Given the description of an element on the screen output the (x, y) to click on. 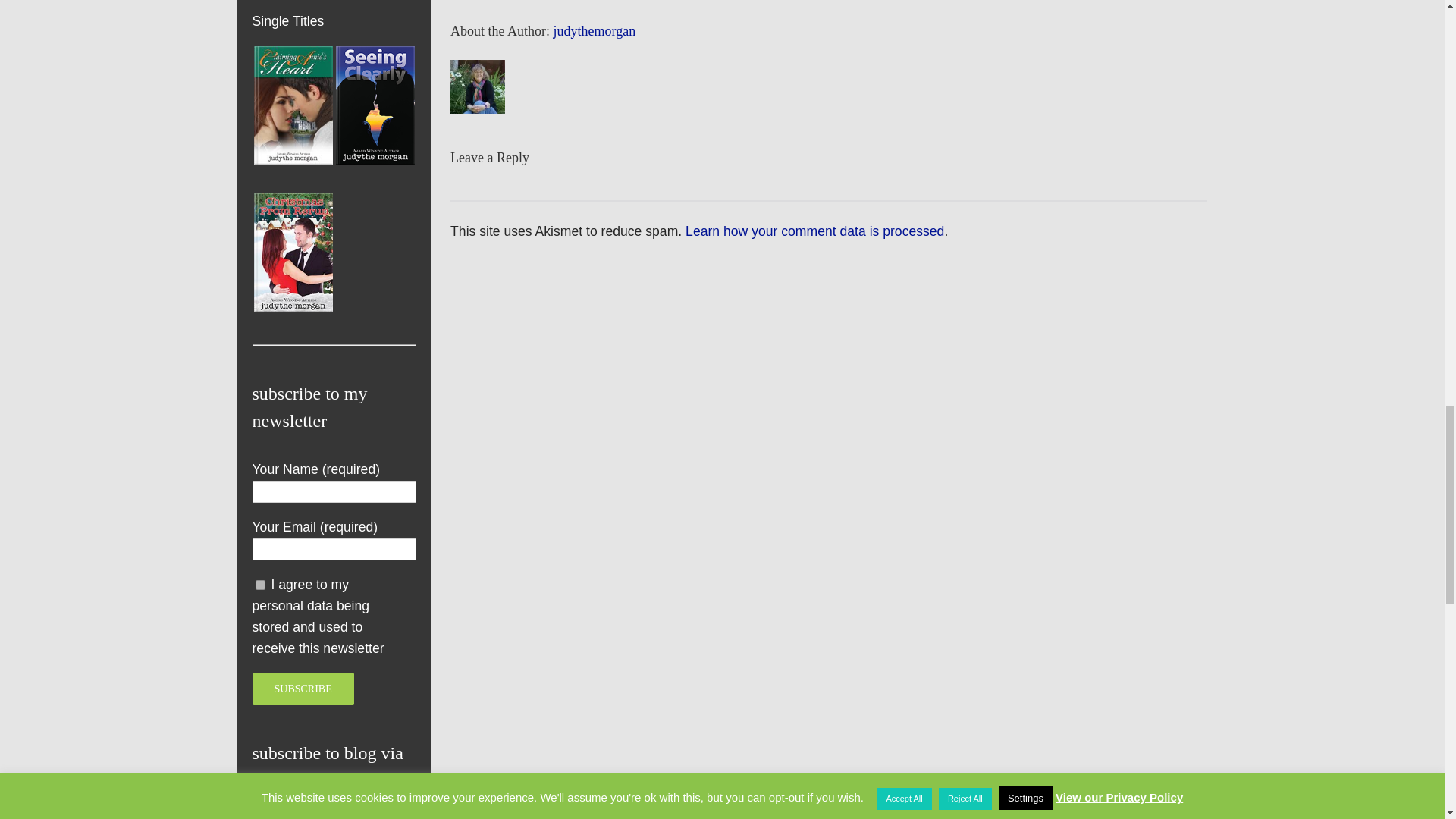
Subscribe (302, 688)
Learn how your comment data is processed (814, 231)
Posts by judythemorgan (594, 30)
judythemorgan (594, 30)
